Given the description of an element on the screen output the (x, y) to click on. 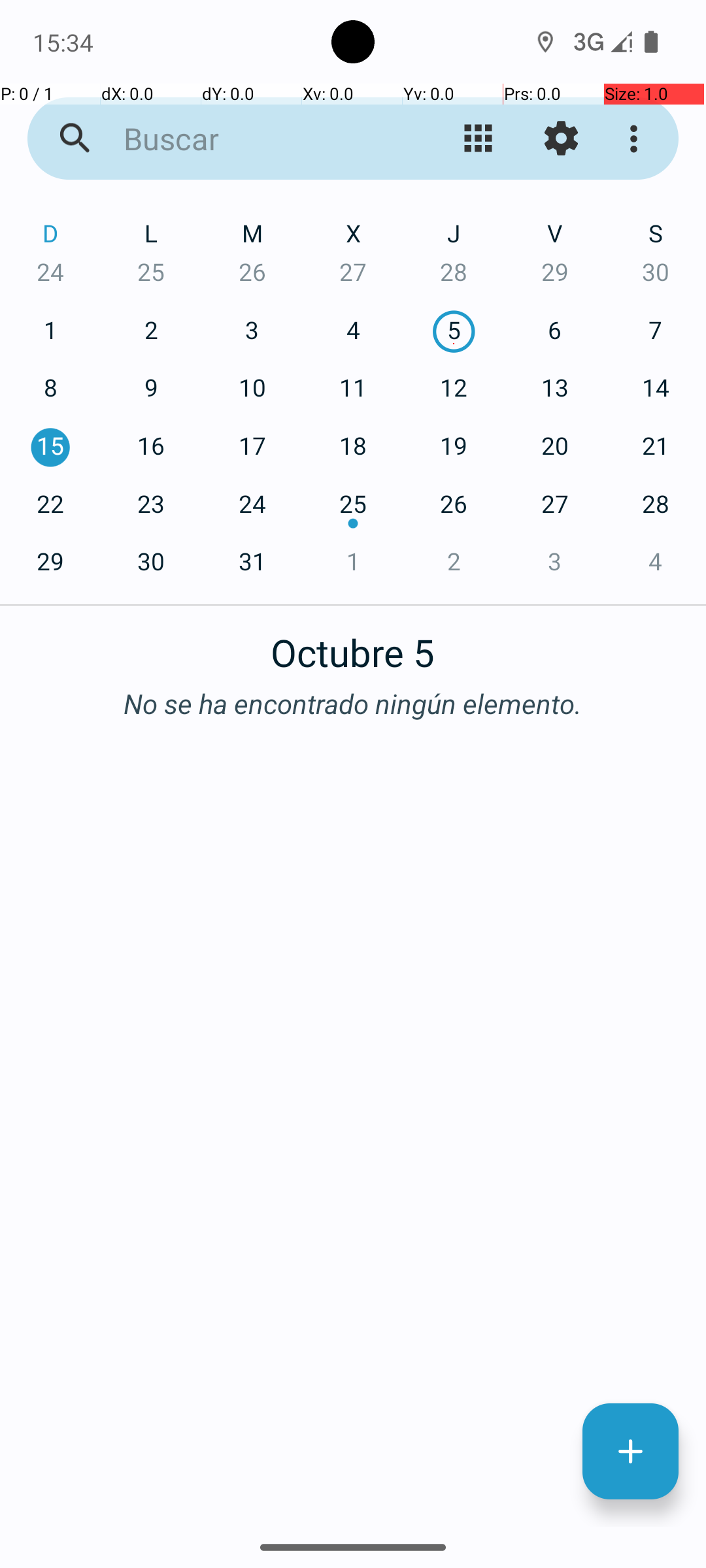
Octubre 5 Element type: android.widget.TextView (352, 644)
No se ha encontrado ningún elemento. Element type: android.widget.TextView (352, 702)
